Given the description of an element on the screen output the (x, y) to click on. 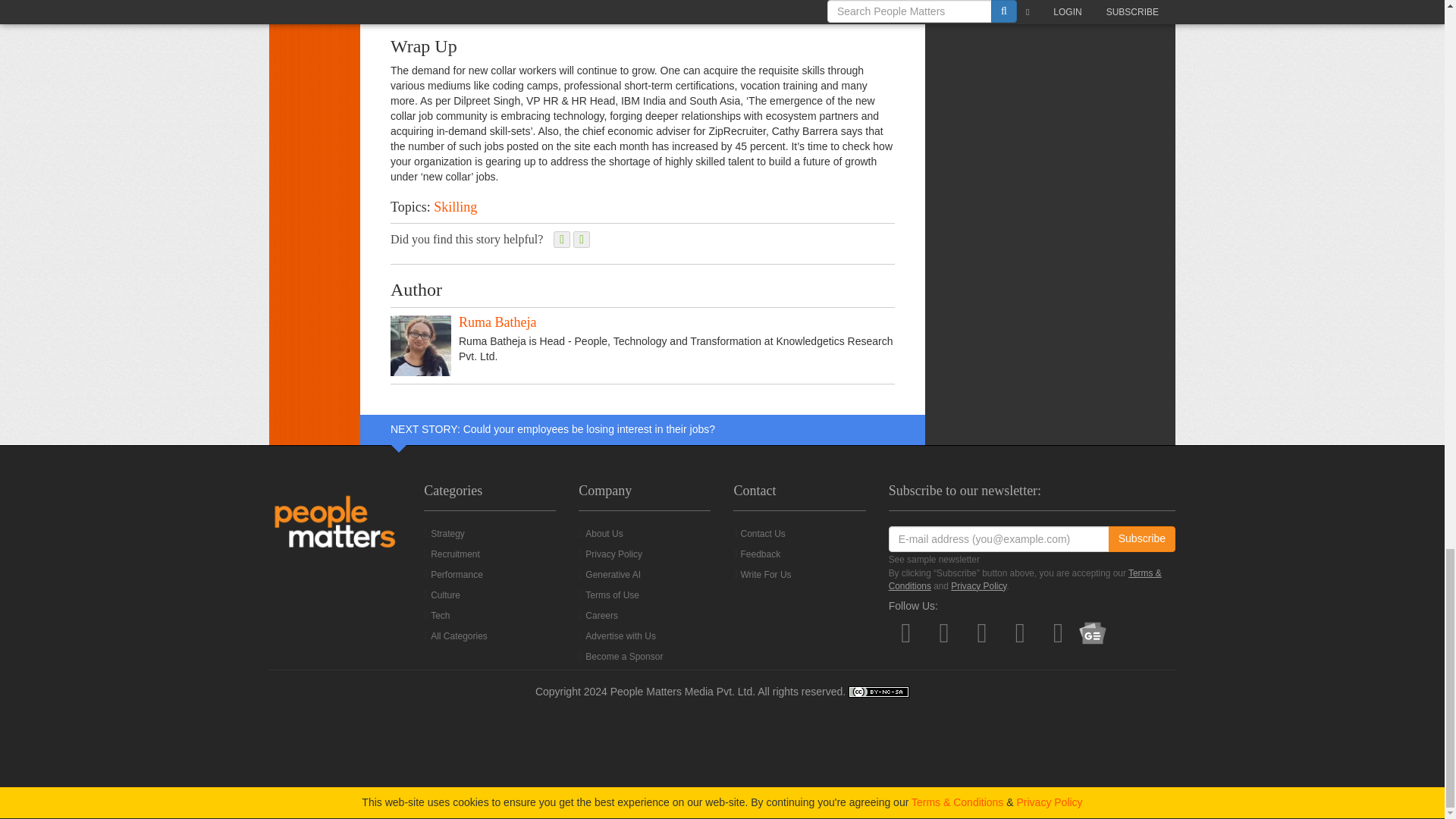
Browse more in: Skilling (455, 206)
Skilling (455, 206)
